Given the description of an element on the screen output the (x, y) to click on. 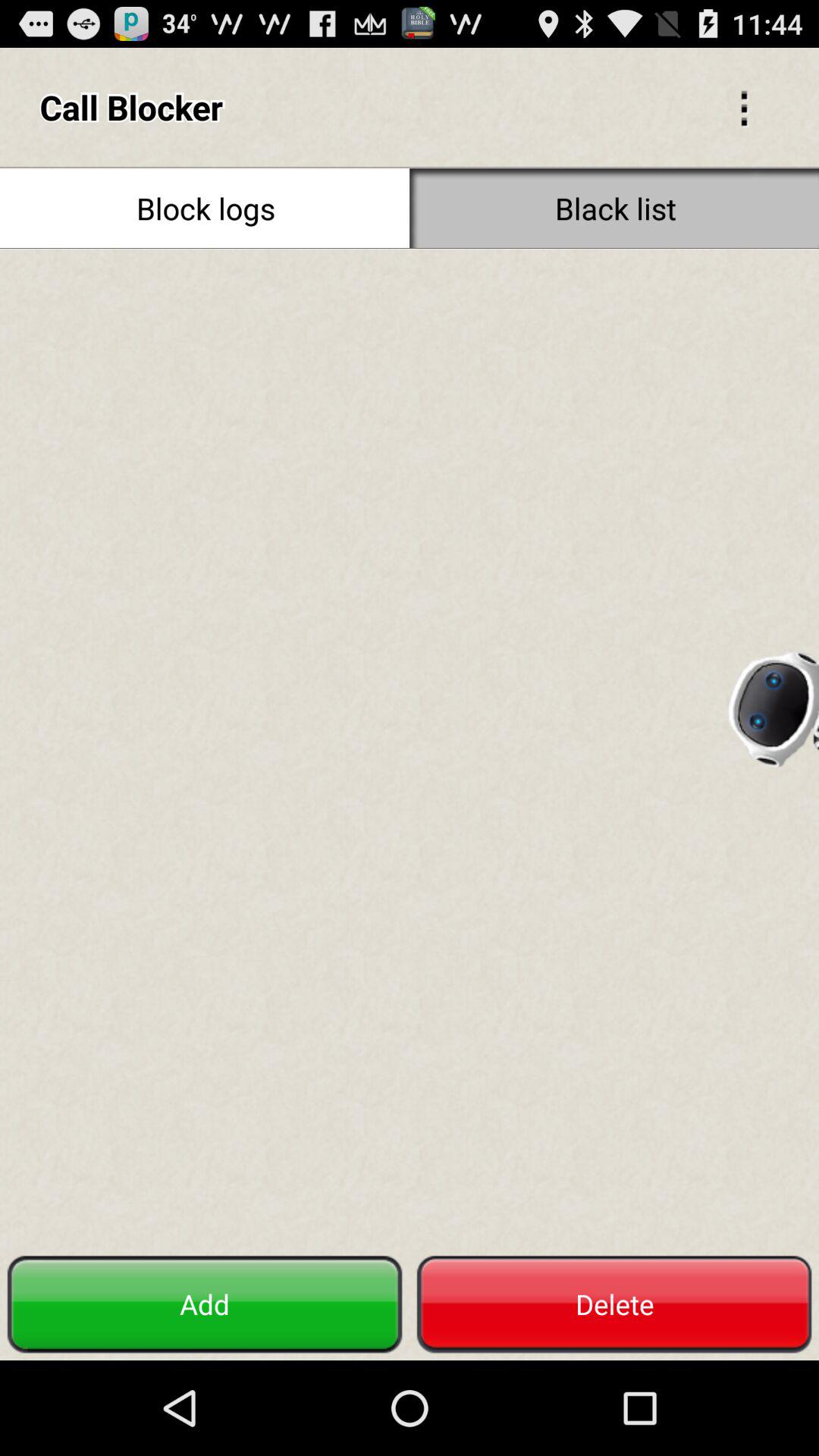
tap the item to the right of the add button (613, 1304)
